Given the description of an element on the screen output the (x, y) to click on. 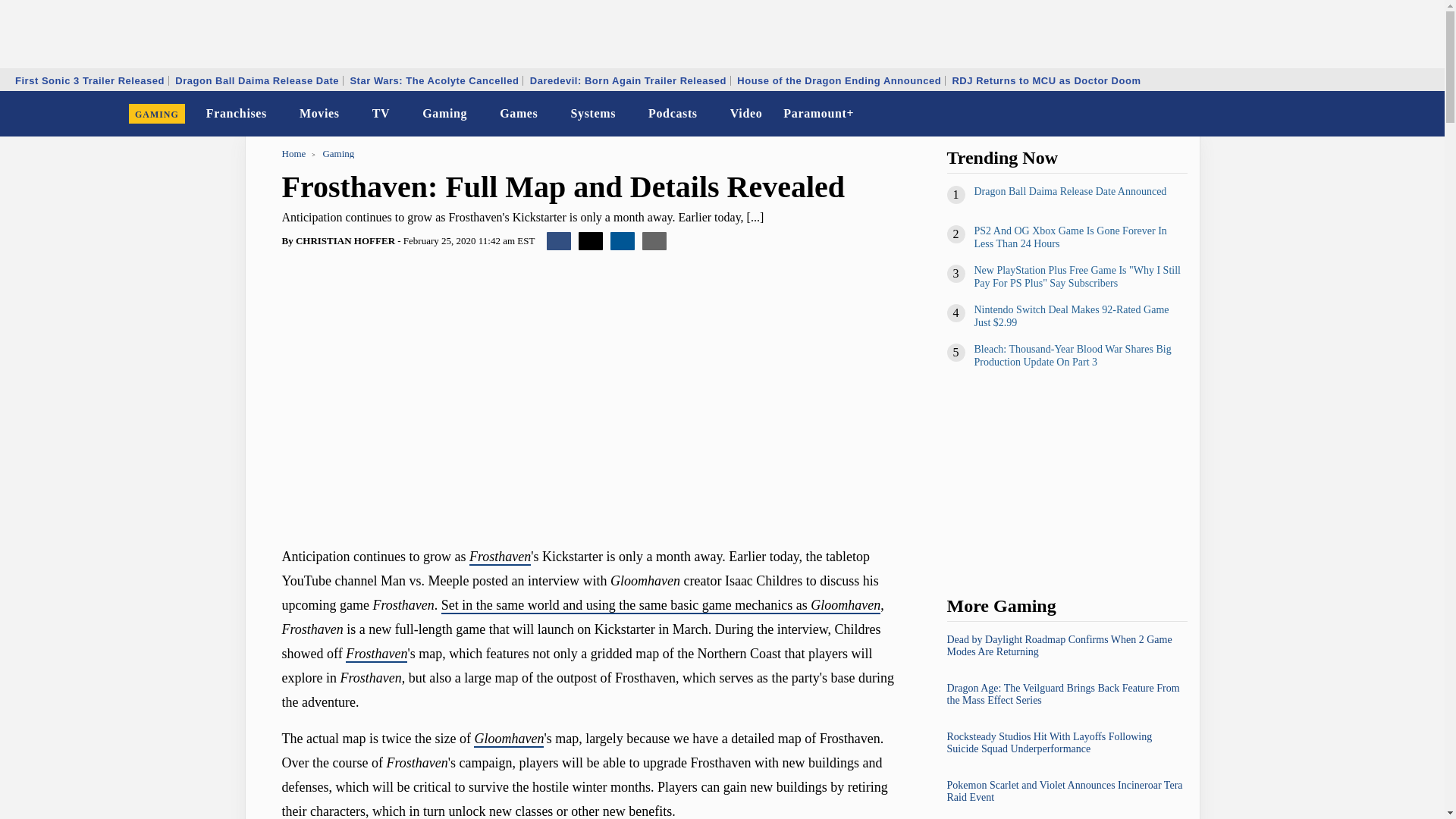
Movies (320, 113)
Gaming (444, 113)
Star Wars: The Acolyte Cancelled (434, 80)
Daredevil: Born Again Trailer Released (627, 80)
Dragon Ball Daima Release Date (256, 80)
Search (1422, 114)
RDJ Returns to MCU as Doctor Doom (1045, 80)
GAMING (157, 113)
First Sonic 3 Trailer Released (89, 80)
House of the Dragon Ending Announced (838, 80)
